Given the description of an element on the screen output the (x, y) to click on. 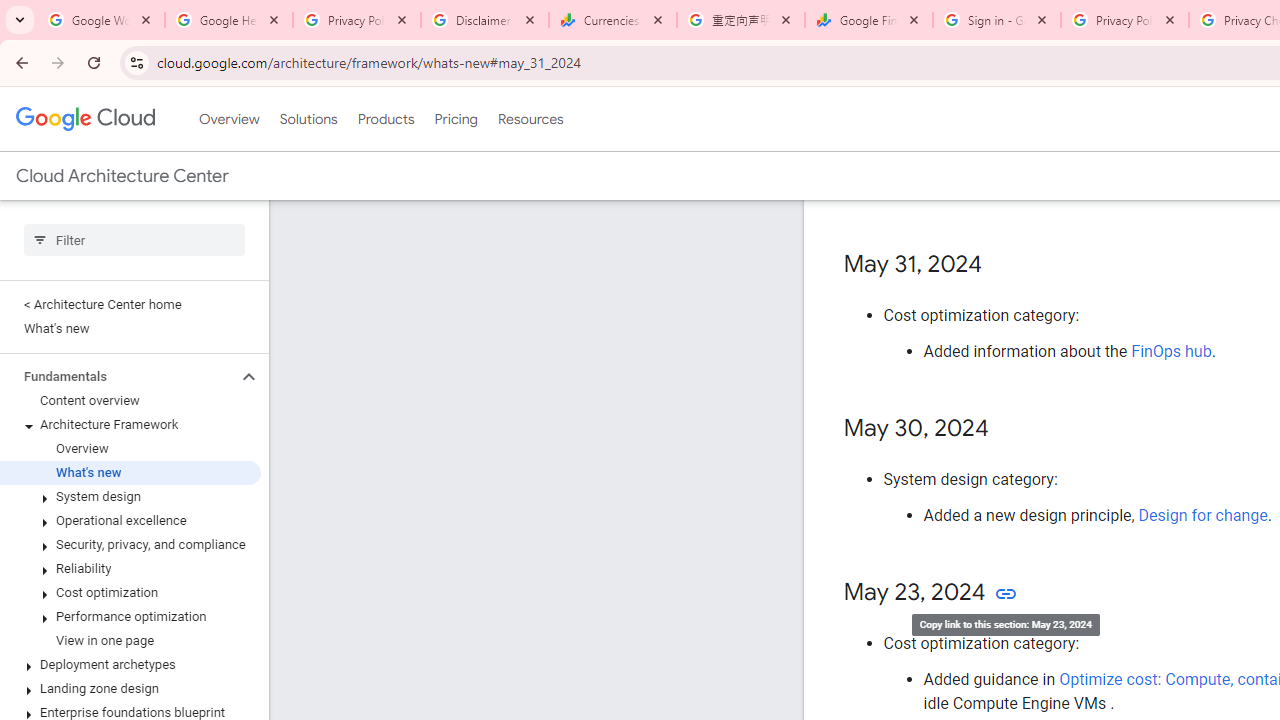
Pricing (455, 119)
Copy link to this section: May 23, 2024 (1005, 593)
Type to filter (134, 239)
Sign in - Google Accounts (997, 20)
optimizing (1151, 163)
Google Workspace Admin Community (101, 20)
Architecture Framework (130, 425)
Products (385, 119)
Resources (530, 119)
Deployment archetypes (130, 664)
Google Cloud (84, 118)
System design (130, 497)
monitoring (1142, 127)
